Given the description of an element on the screen output the (x, y) to click on. 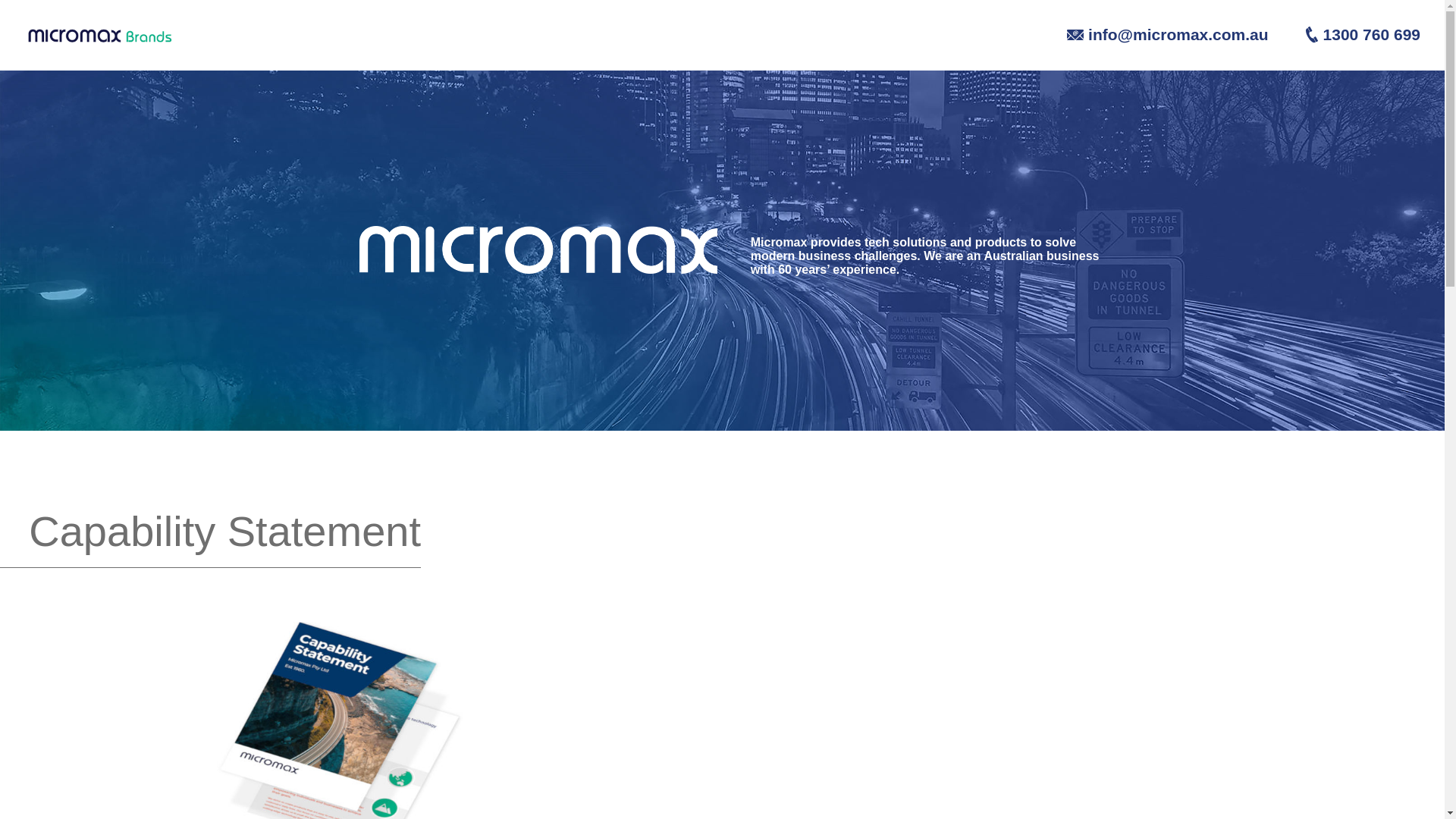
Email info@micromax.com.au Element type: text (1151, 33)
Micromax Capability Statement
READ DOCUMENT Element type: text (341, 627)
Phone 1300 760 699 Element type: text (1345, 33)
